Given the description of an element on the screen output the (x, y) to click on. 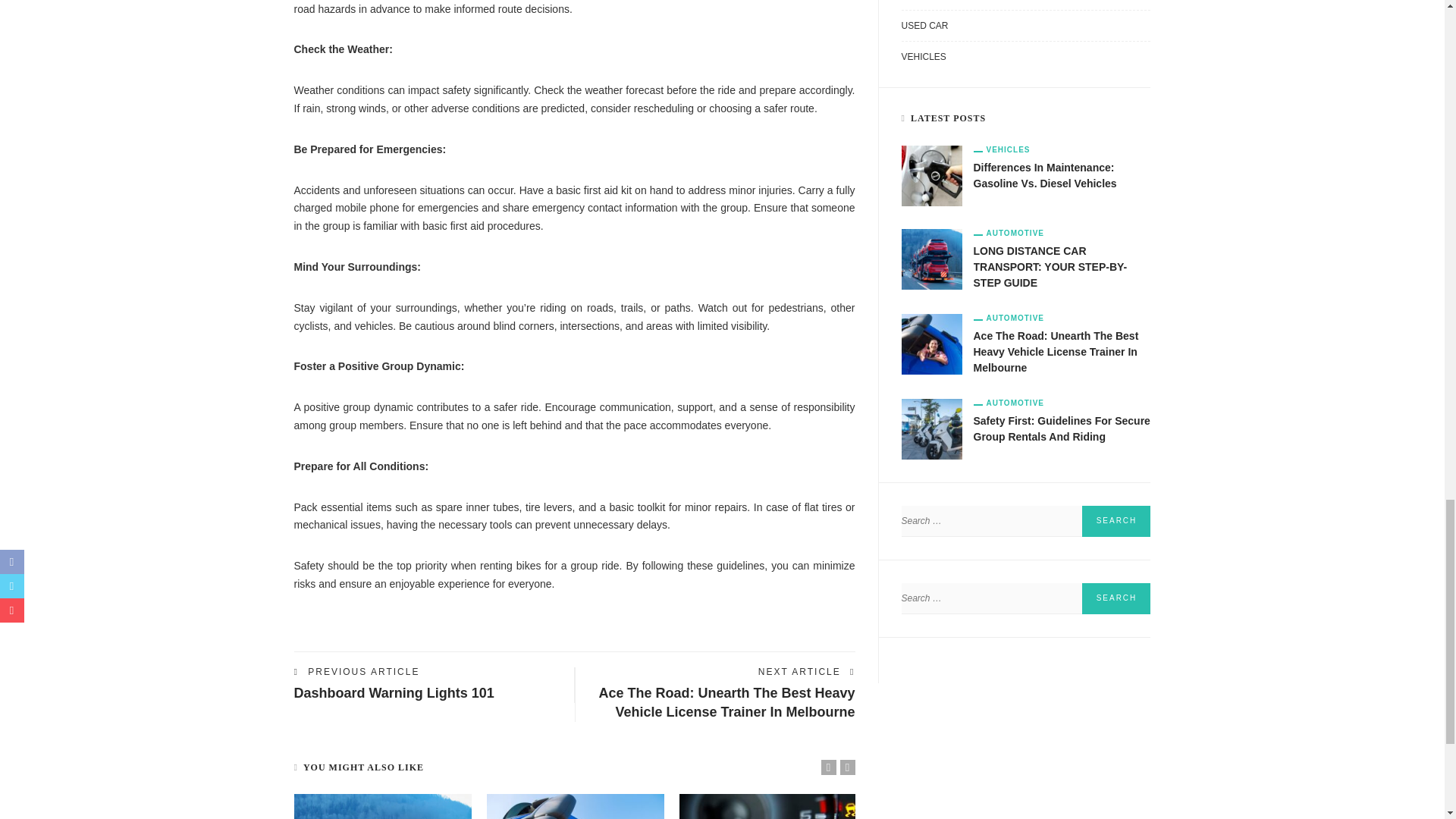
Search (1115, 521)
Search (1115, 598)
Dashboard Warning Lights 101 (394, 693)
Search (1115, 598)
Dashboard Warning Lights 101 (394, 693)
LONG DISTANCE CAR TRANSPORT: YOUR STEP-BY-STEP GUIDE (382, 806)
Search (1115, 521)
